Given the description of an element on the screen output the (x, y) to click on. 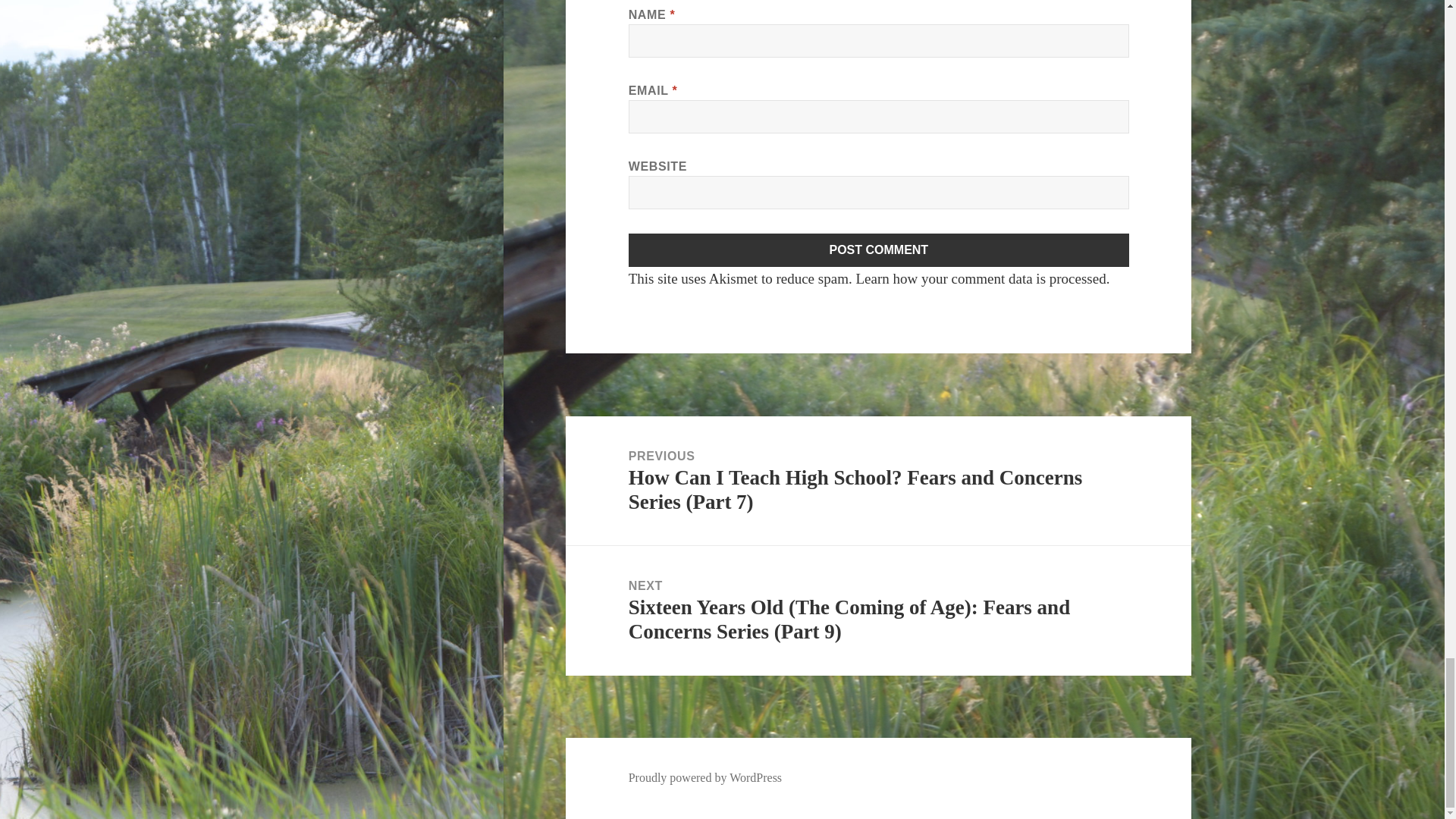
Post Comment (878, 249)
